Given the description of an element on the screen output the (x, y) to click on. 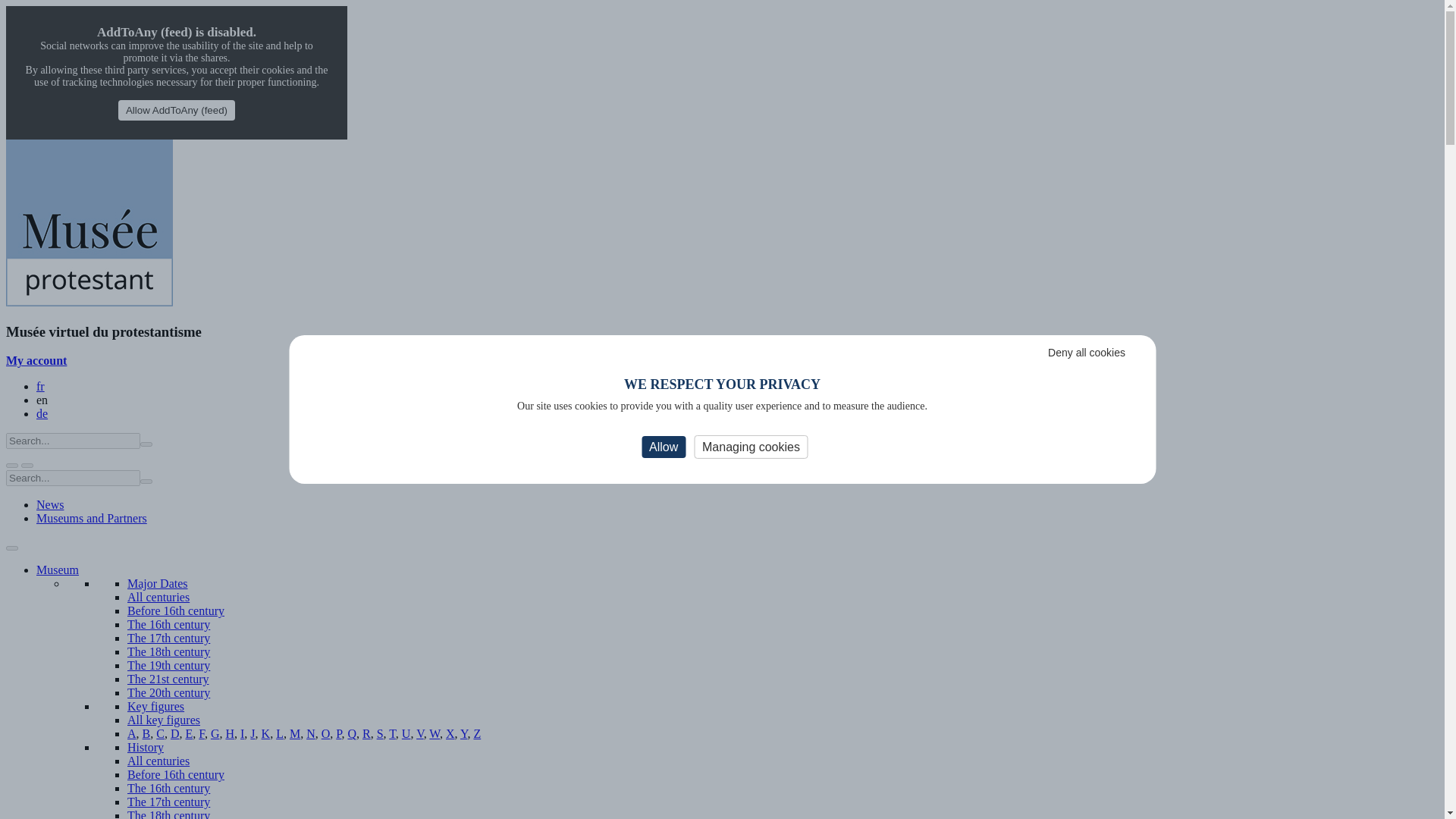
My account (35, 359)
Museums and Partners (91, 517)
All key figures (164, 719)
Major Dates (157, 583)
Before 16th century (176, 610)
The 16th century (168, 624)
The 18th century (168, 651)
Key figures (156, 706)
The 21st century (168, 678)
All centuries (158, 596)
News (50, 504)
Museum (57, 569)
The 19th century (168, 665)
The 20th century (168, 692)
The 17th century (168, 637)
